Given the description of an element on the screen output the (x, y) to click on. 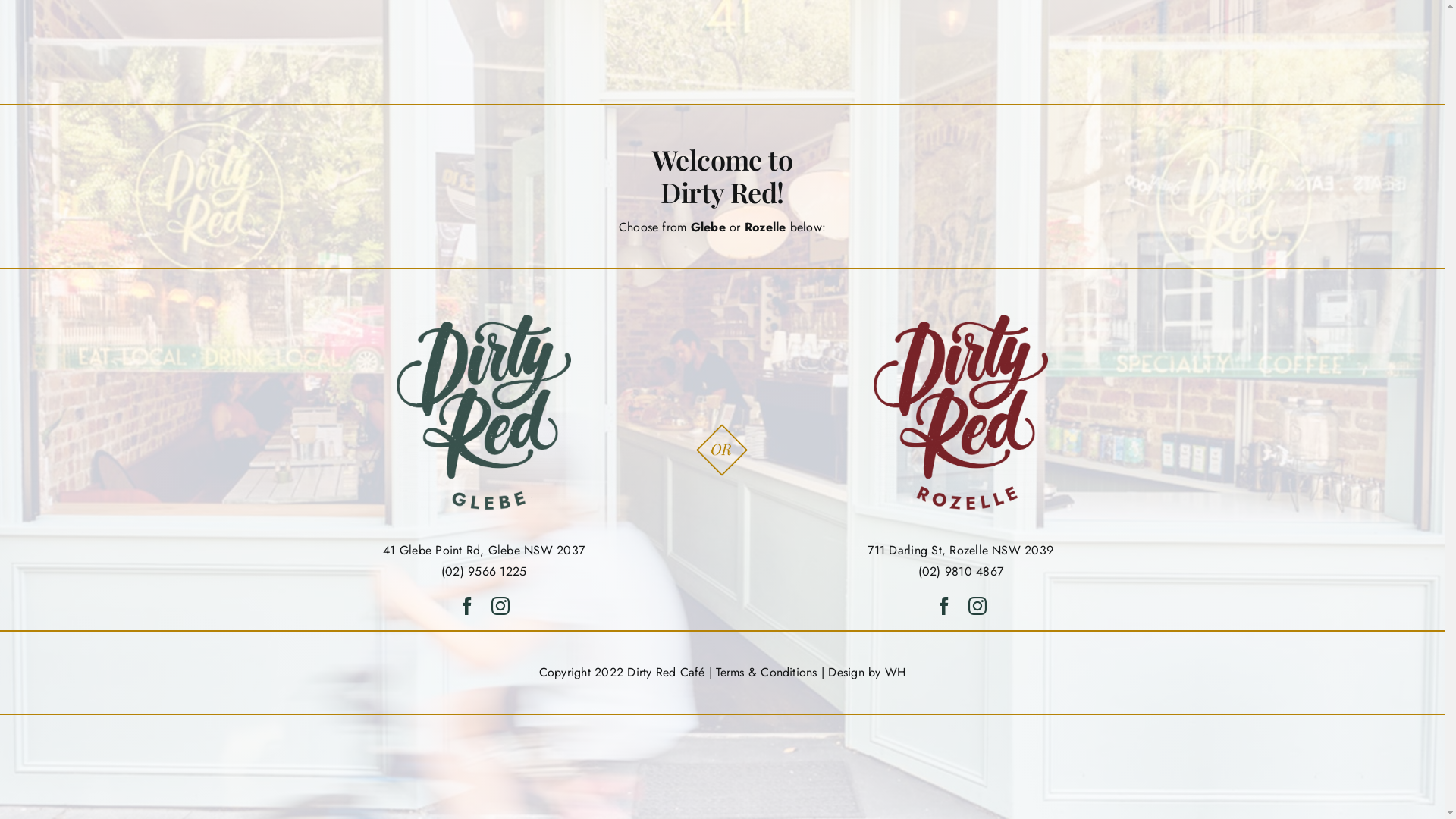
WH Element type: text (894, 671)
Facebook Element type: hover (467, 605)
Terms & Conditions Element type: text (765, 671)
Instagram Element type: hover (977, 605)
Facebook Element type: hover (944, 605)
Seprator Element type: hover (721, 449)
Instagram Element type: hover (500, 605)
